Given the description of an element on the screen output the (x, y) to click on. 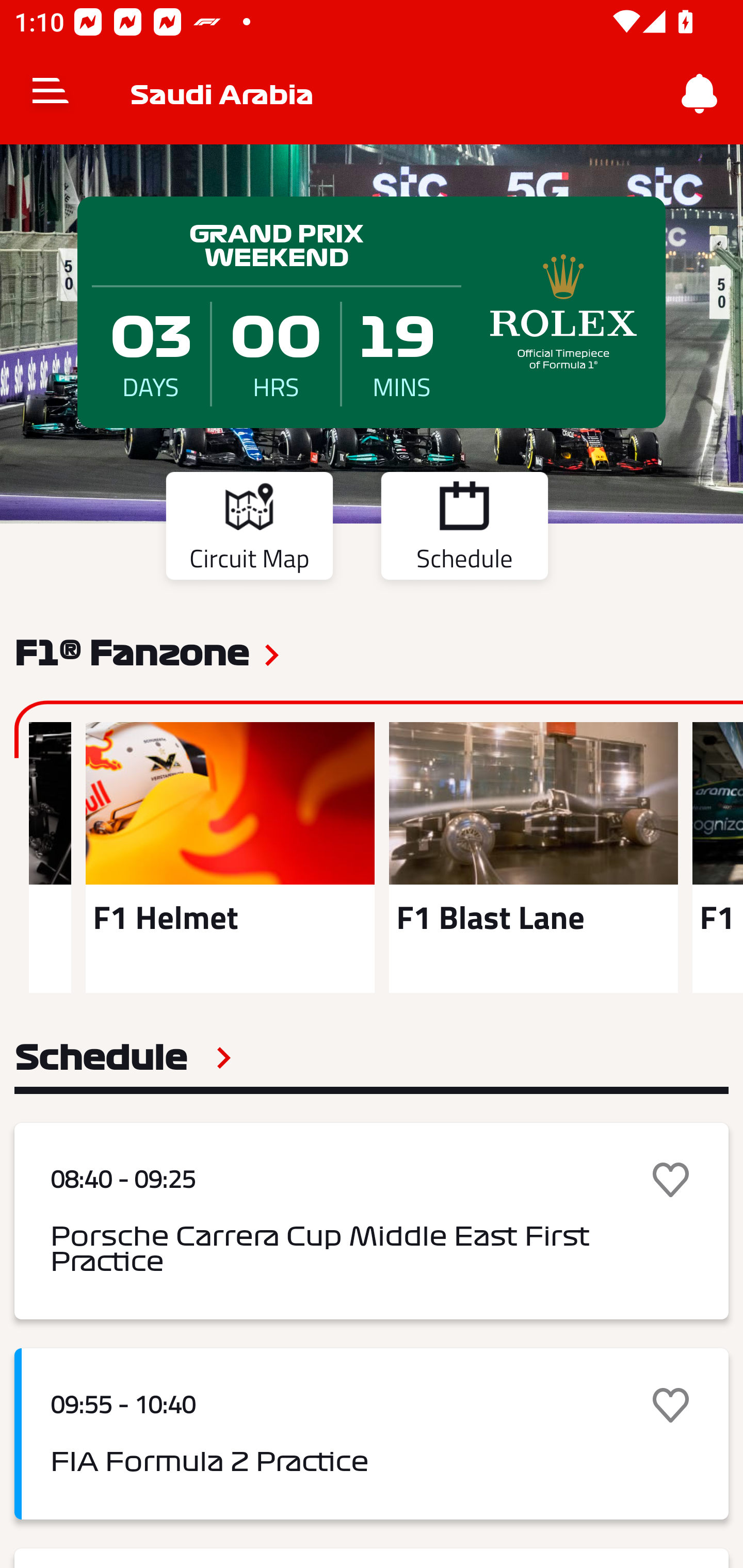
Navigate up (50, 93)
Notifications (699, 93)
Circuit Map (249, 528)
Schedule (464, 528)
F1® Fanzone (131, 651)
F1 Helmet (229, 857)
F1 Blast Lane (533, 857)
Schedule (122, 1057)
09:55 - 10:40 FIA Formula 2 Practice (371, 1433)
